Given the description of an element on the screen output the (x, y) to click on. 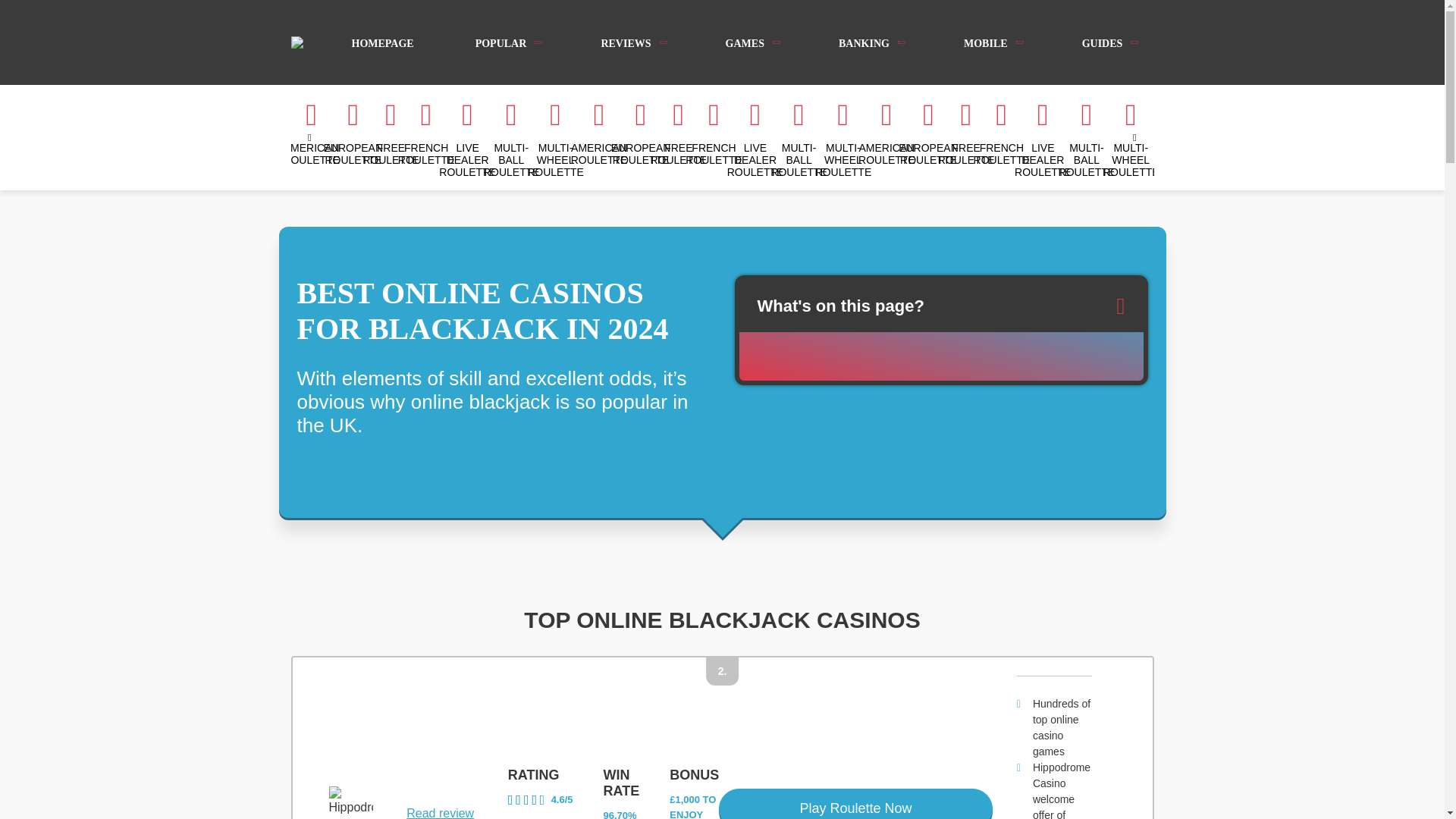
GAMES (750, 42)
HOMEPAGE (382, 42)
Read our review about Hippodrome (540, 799)
Read our review about Hippodrome (440, 811)
Visit Hippodrome (855, 803)
REVIEWS (631, 42)
POPULAR (507, 42)
Hippodrome logo (350, 802)
